Given the description of an element on the screen output the (x, y) to click on. 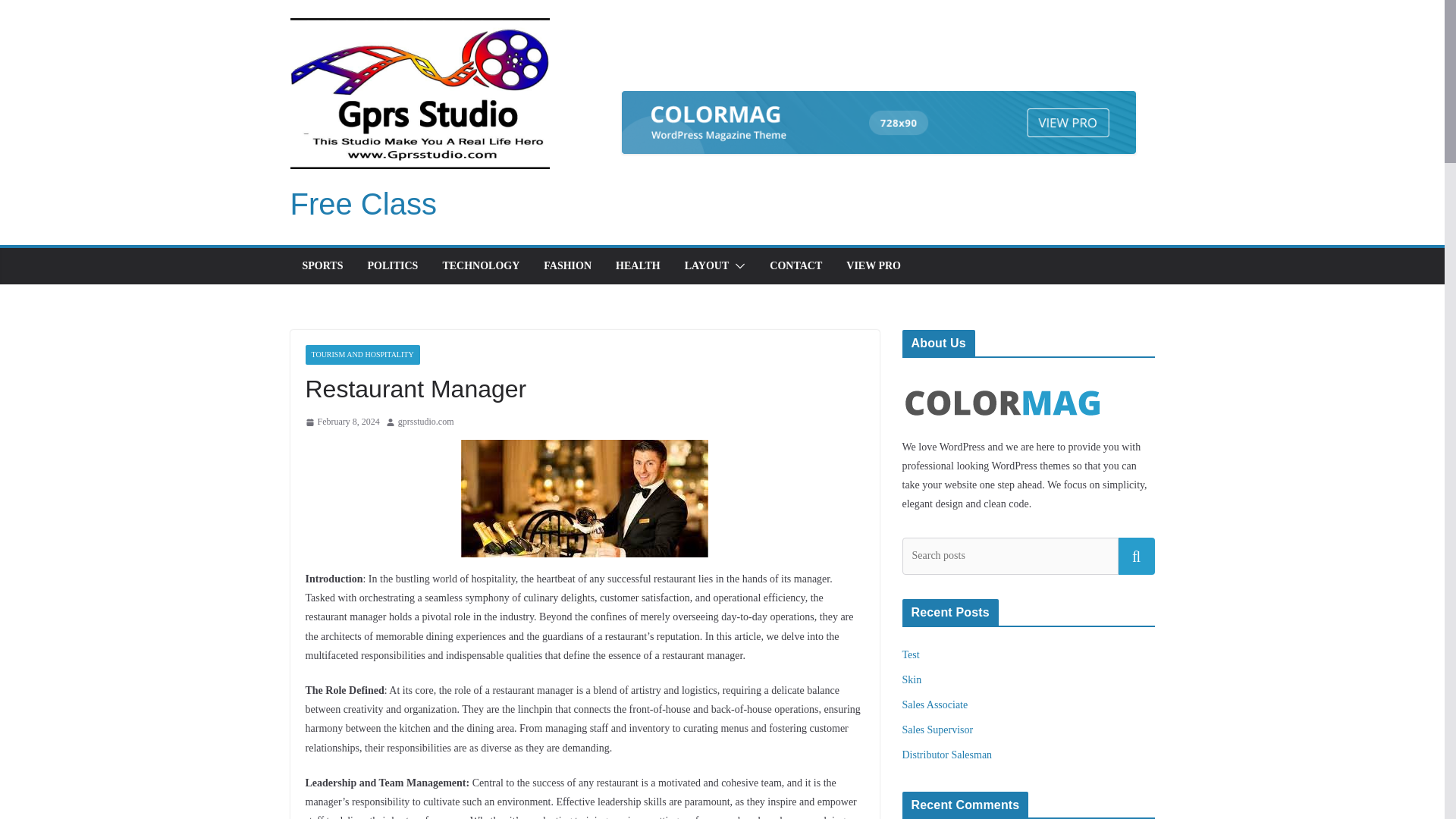
Search (1136, 555)
LAYOUT (706, 265)
9:56 am (341, 422)
CONTACT (796, 265)
SPORTS (321, 265)
FASHION (567, 265)
gprsstudio.com (425, 422)
COLORMAG (1002, 378)
Free Class (362, 203)
Sales Supervisor (938, 729)
POLITICS (391, 265)
Distributor Salesman (947, 754)
gprsstudio.com (425, 422)
HEALTH (638, 265)
VIEW PRO (873, 265)
